Given the description of an element on the screen output the (x, y) to click on. 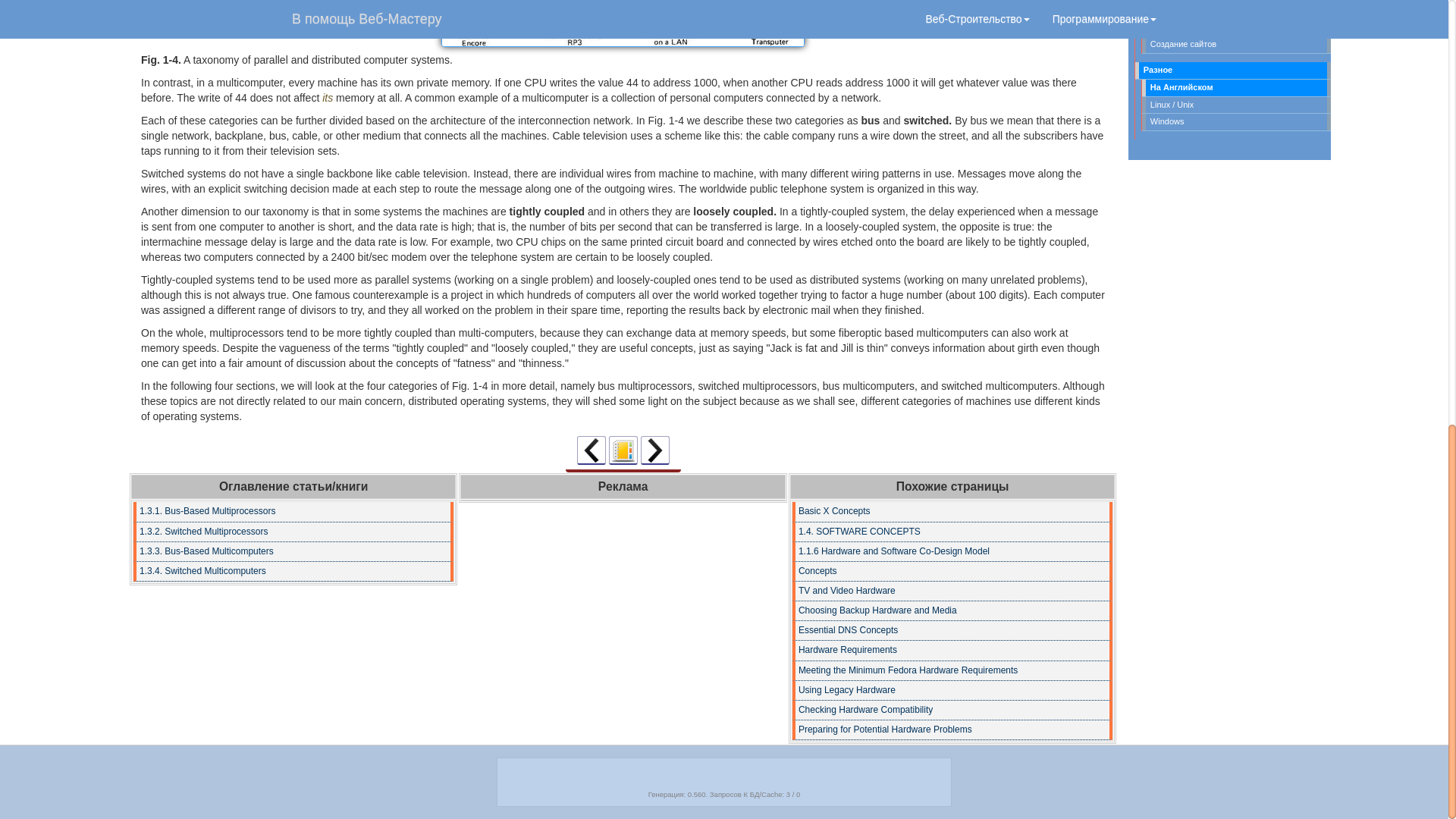
1.3.4. Switched Multicomputers (292, 571)
1.3.1. Bus-Based Multiprocessors (292, 511)
1.2.3. Disadvantages of Distributed Systems (590, 450)
1.3.1. Bus-Based Multiprocessors (654, 450)
1.3.3. Bus-Based Multicomputers (292, 551)
Basic X Concepts (952, 511)
Basic X Concepts (952, 511)
1.4. SOFTWARE CONCEPTS (952, 532)
1.3. HARDWARE CONCEPTS (623, 23)
1.3.2. Switched Multiprocessors (292, 532)
